Given the description of an element on the screen output the (x, y) to click on. 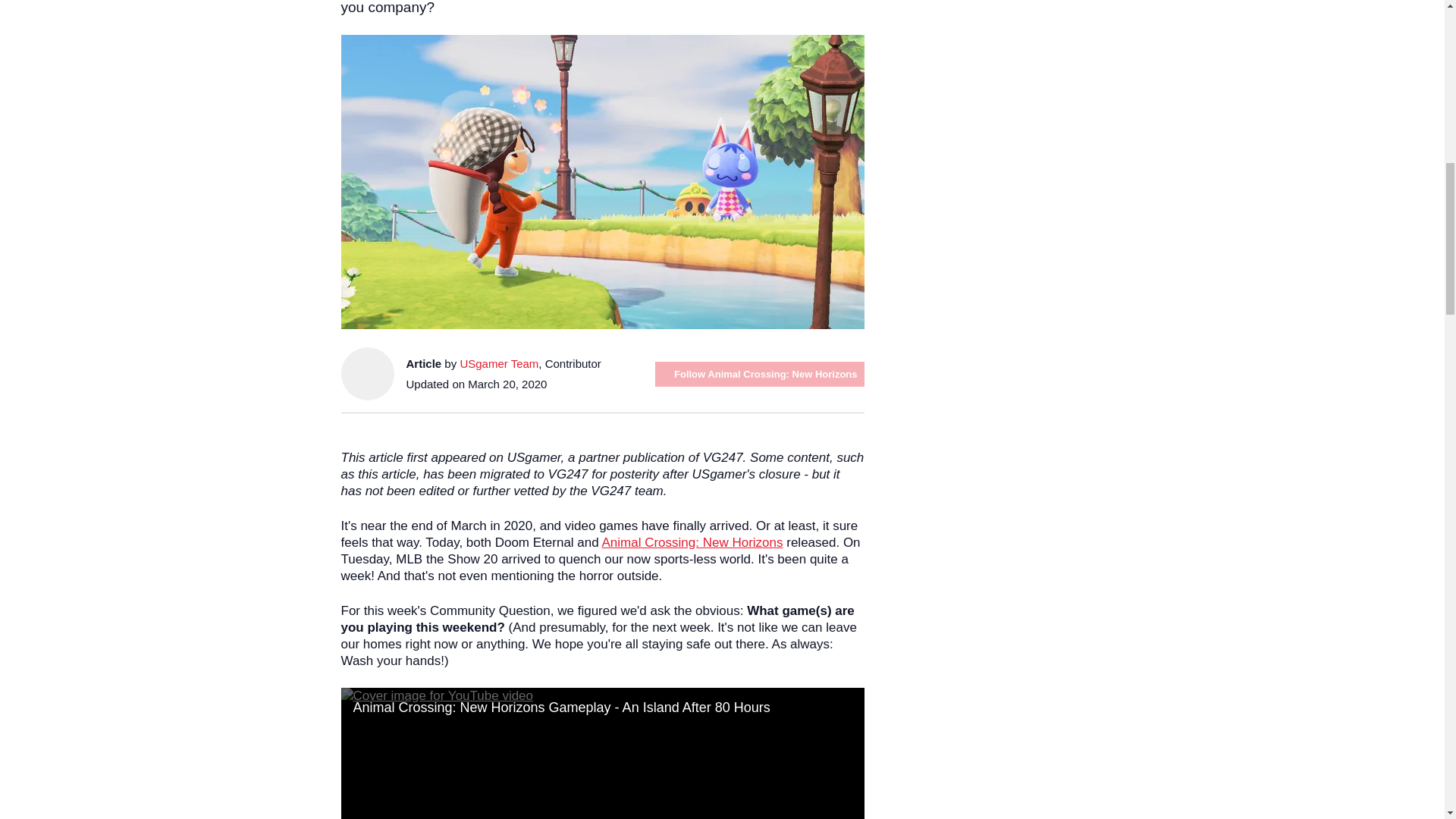
Follow Animal Crossing: New Horizons (759, 373)
Click to play video from YouTube (602, 753)
Animal Crossing: New Horizons (692, 542)
Follow Animal Crossing: New Horizons (759, 373)
USgamer Team (499, 363)
